Given the description of an element on the screen output the (x, y) to click on. 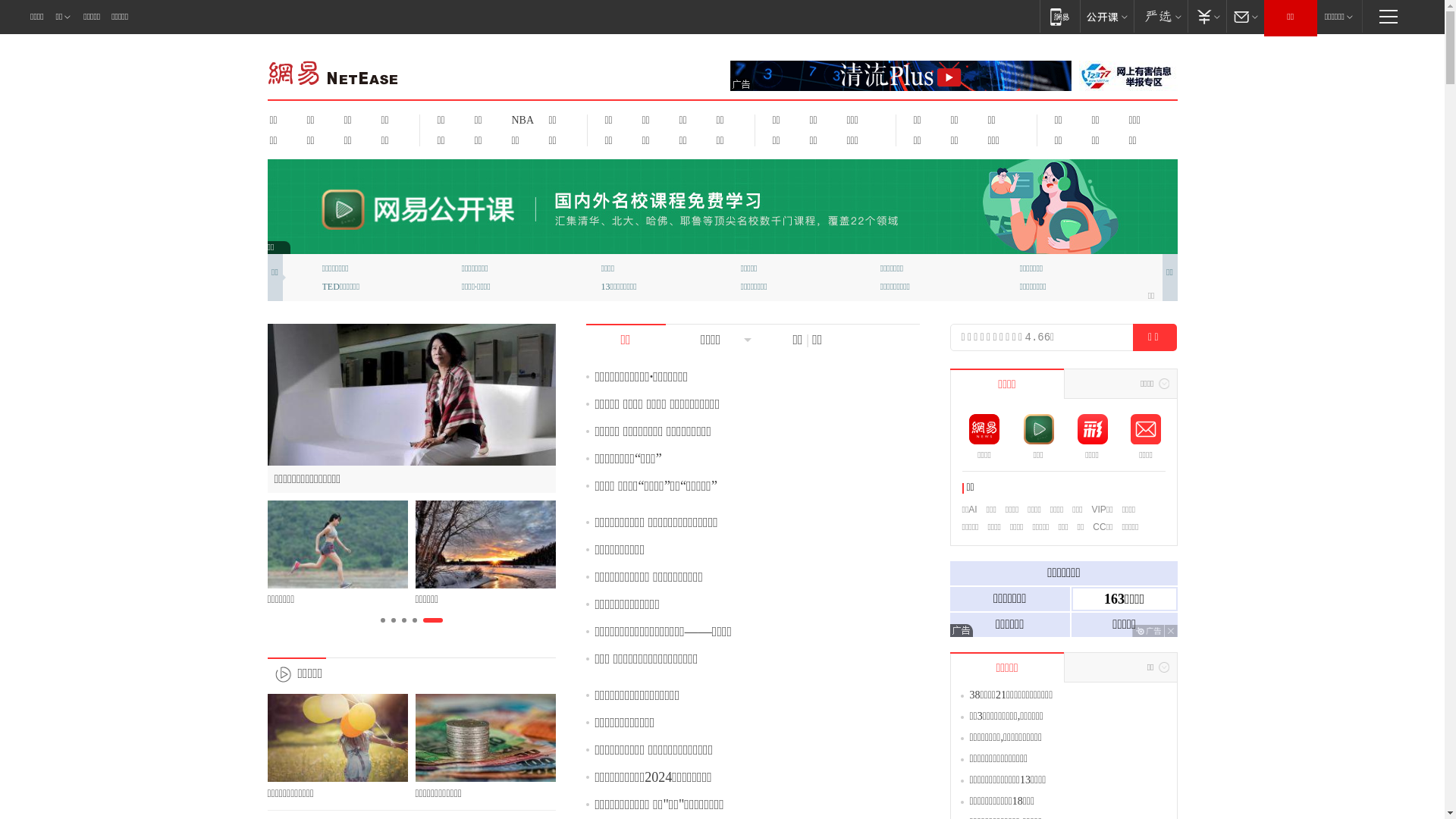
NBA Element type: text (520, 119)
